Given the description of an element on the screen output the (x, y) to click on. 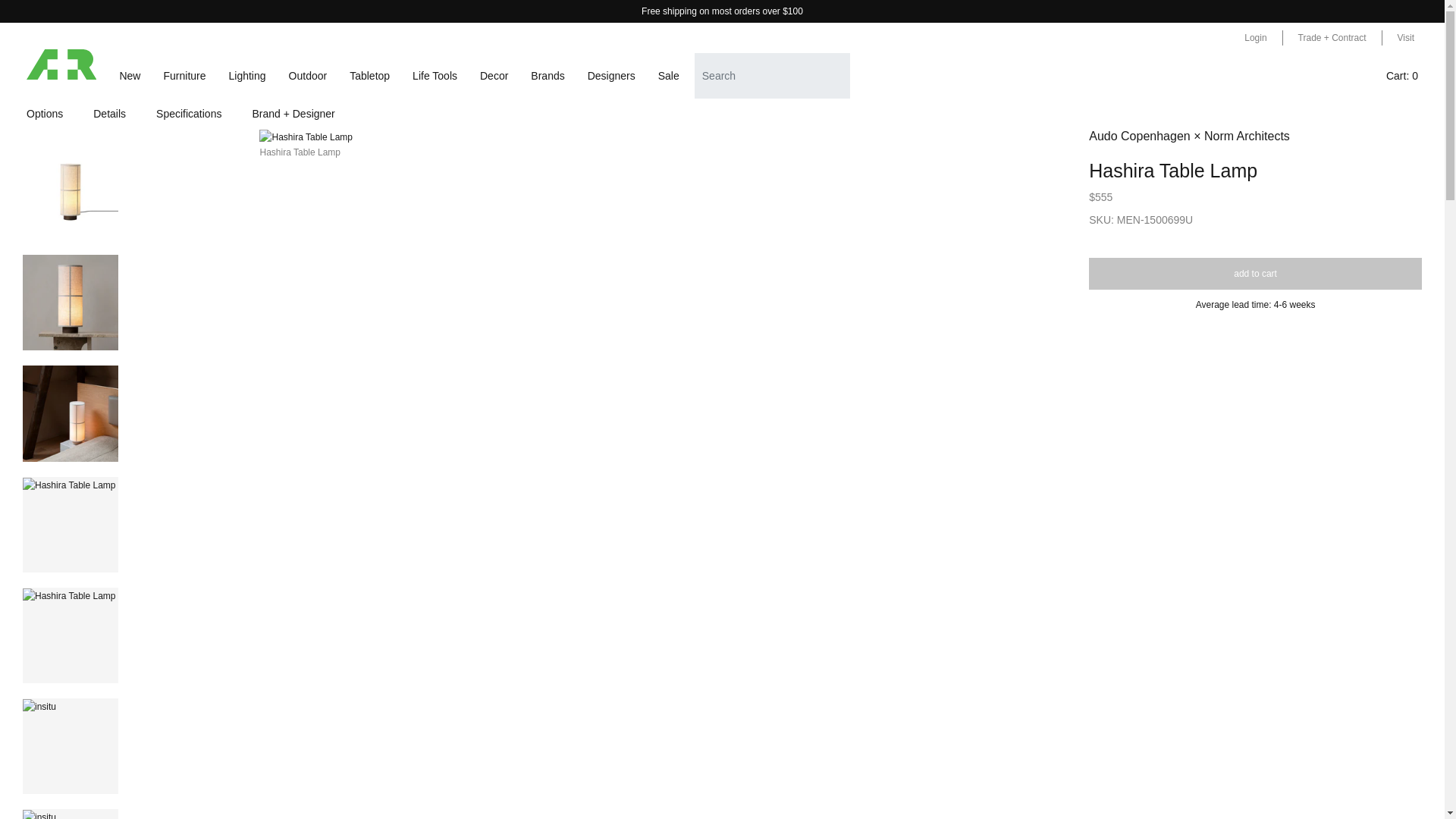
Visit (1405, 37)
New (130, 75)
Furniture (183, 75)
Login (1254, 37)
